Given the description of an element on the screen output the (x, y) to click on. 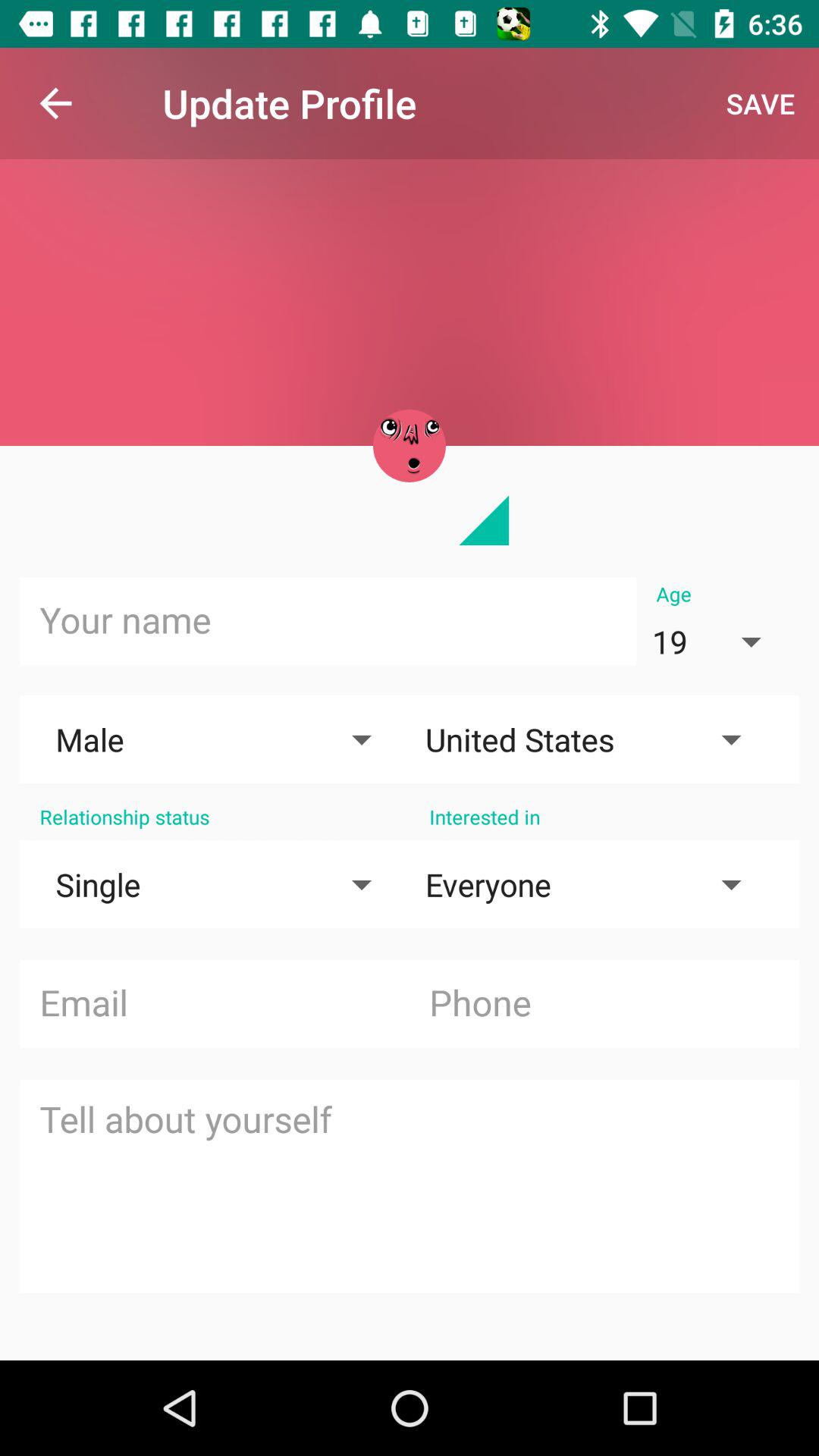
insert phone number (604, 1004)
